Given the description of an element on the screen output the (x, y) to click on. 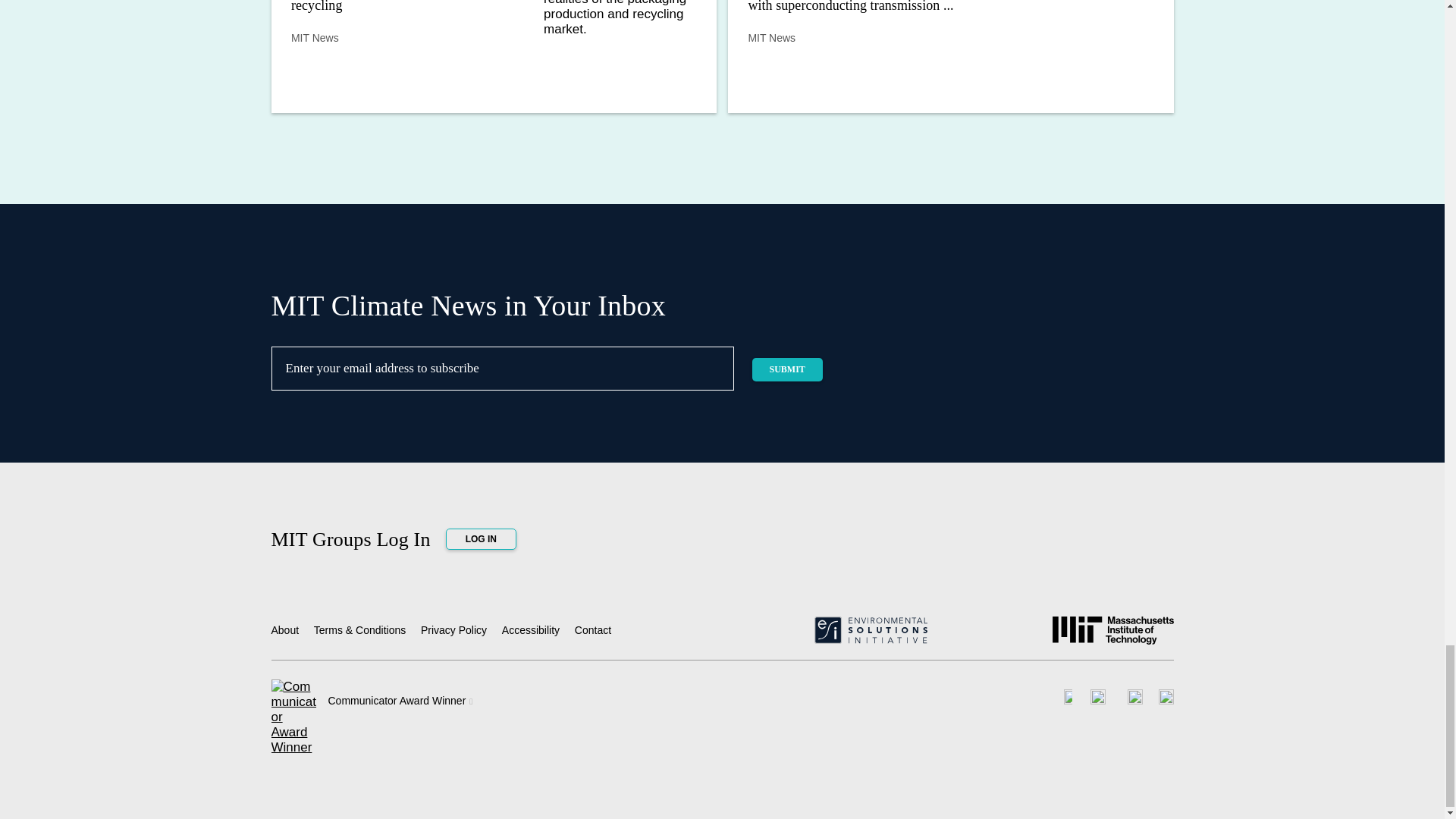
ESI Website (869, 635)
Submit (787, 369)
MIT Website (1112, 636)
